Given the description of an element on the screen output the (x, y) to click on. 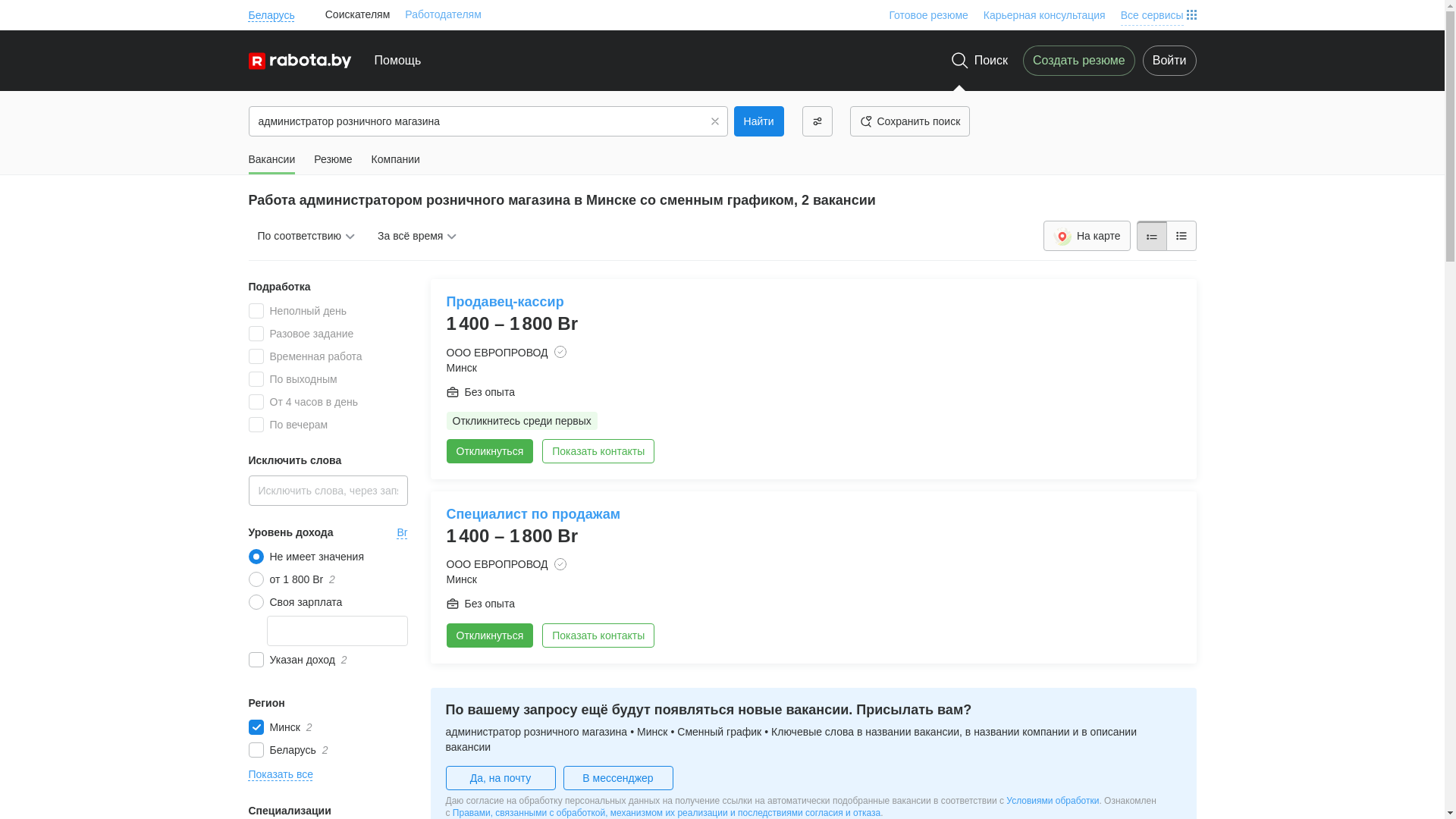
Br Element type: text (402, 532)
Clear Element type: hover (715, 121)
